Given the description of an element on the screen output the (x, y) to click on. 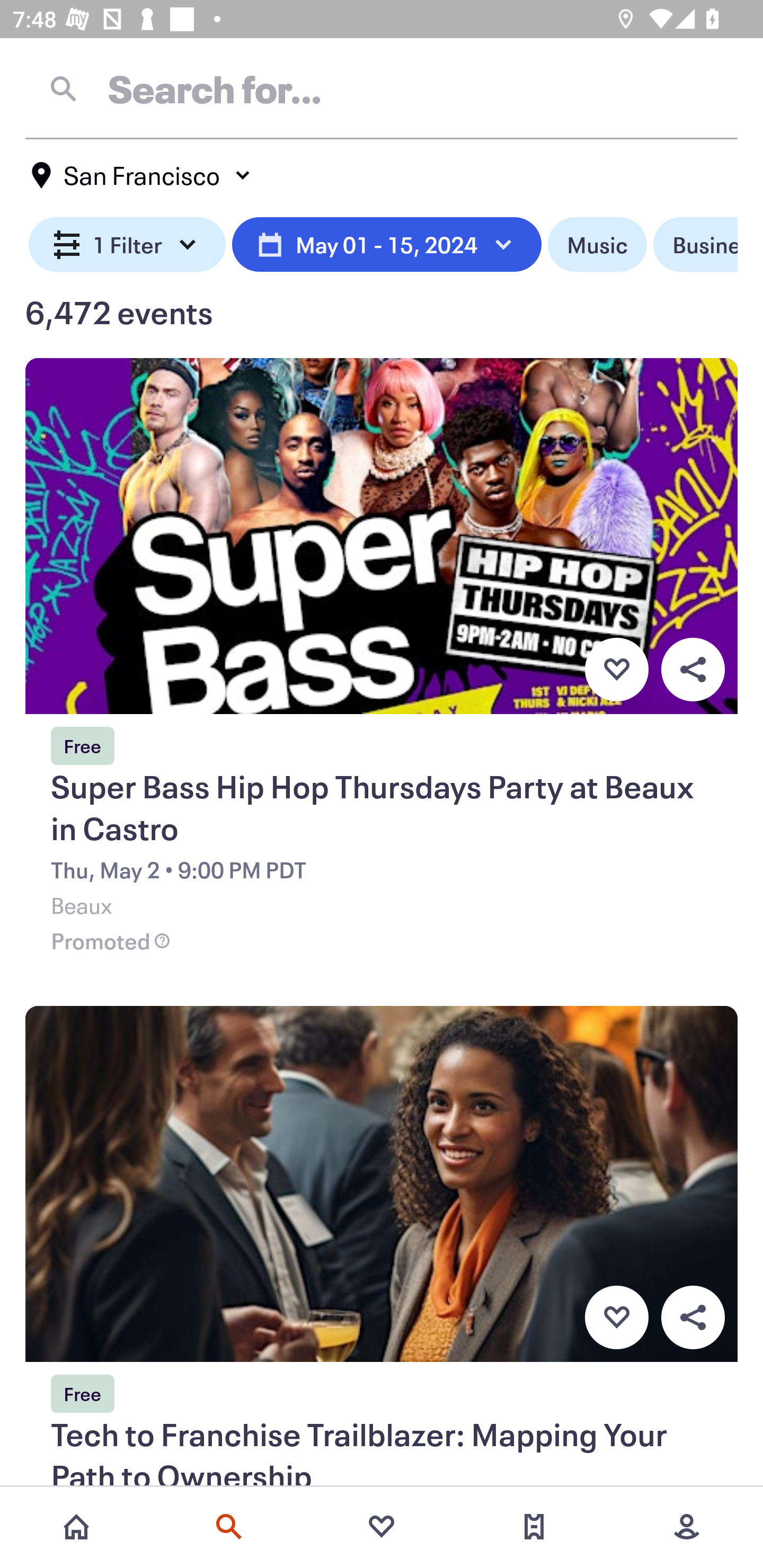
Search for… (381, 88)
San Francisco (141, 175)
1 Filter (126, 244)
May 01 - 15, 2024 (386, 244)
Music (597, 244)
Business (695, 244)
Favorite button (616, 669)
Overflow menu button (692, 669)
Favorite button (616, 1317)
Overflow menu button (692, 1317)
Home (76, 1526)
Search events (228, 1526)
Favorites (381, 1526)
Tickets (533, 1526)
More (686, 1526)
